Given the description of an element on the screen output the (x, y) to click on. 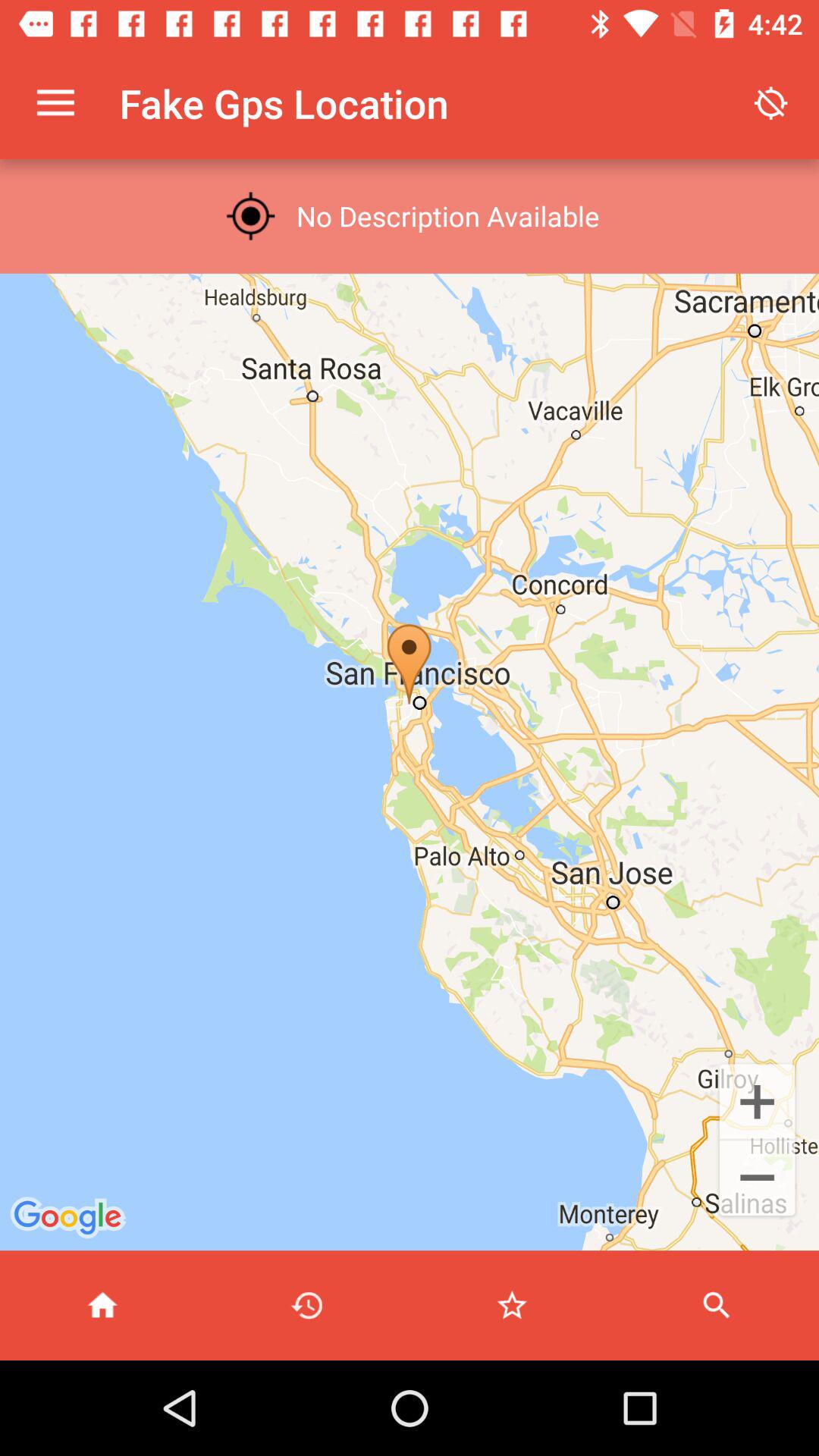
go home (102, 1305)
